Given the description of an element on the screen output the (x, y) to click on. 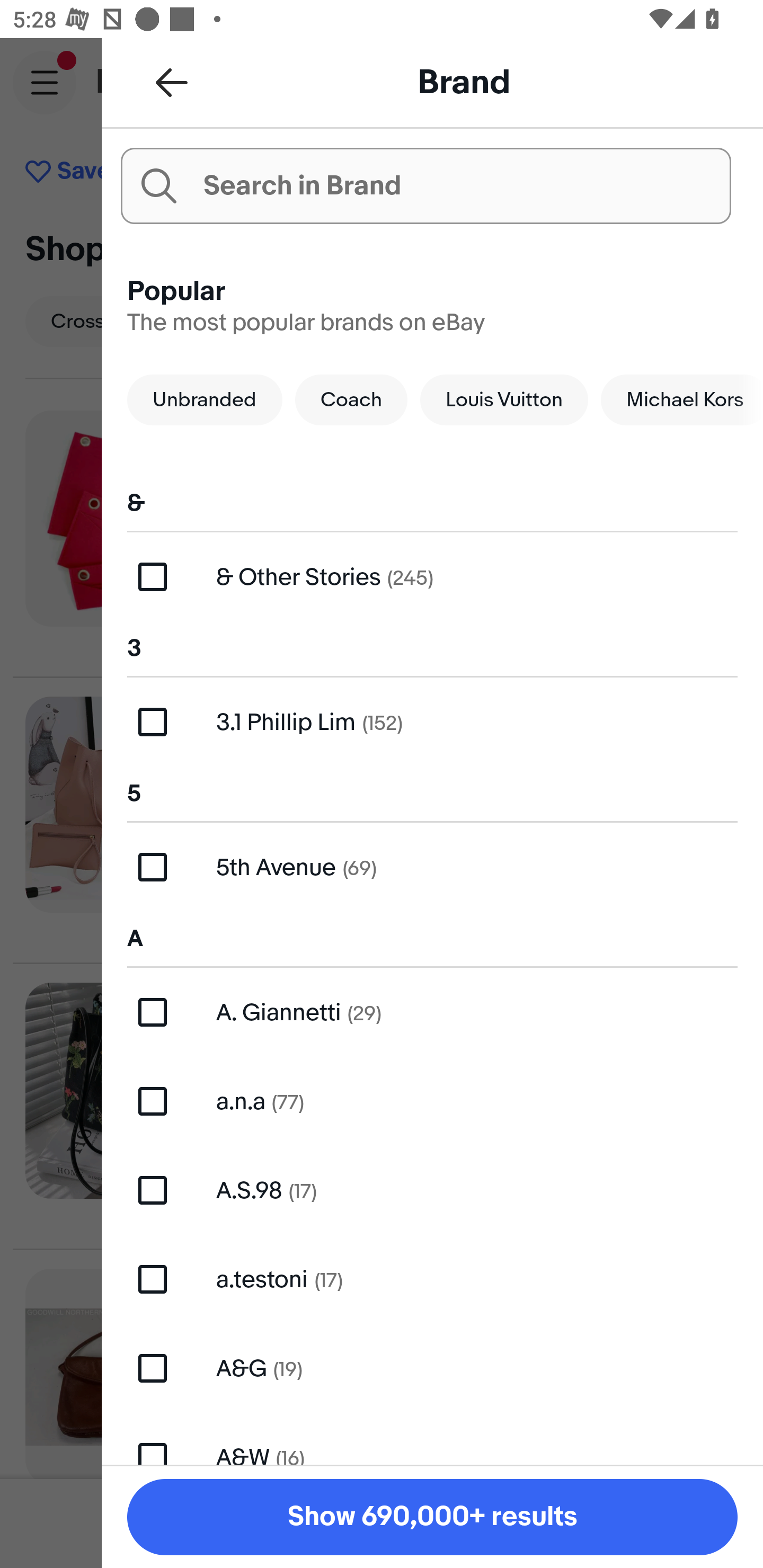
Back to all refinements (171, 81)
Search in Brand (425, 185)
Unbranded (204, 399)
Coach (351, 399)
Louis Vuitton (504, 399)
Michael Kors (682, 399)
& Other Stories (245) (432, 576)
3.1 Phillip Lim (152) (432, 721)
5th Avenue (69) (432, 867)
A. Giannetti (29) (432, 1011)
a.n.a (77) (432, 1101)
A.S.98 (17) (432, 1190)
a.testoni (17) (432, 1279)
A&G (19) (432, 1367)
A&W (16) (432, 1438)
Show 690,000+ results (432, 1516)
